Given the description of an element on the screen output the (x, y) to click on. 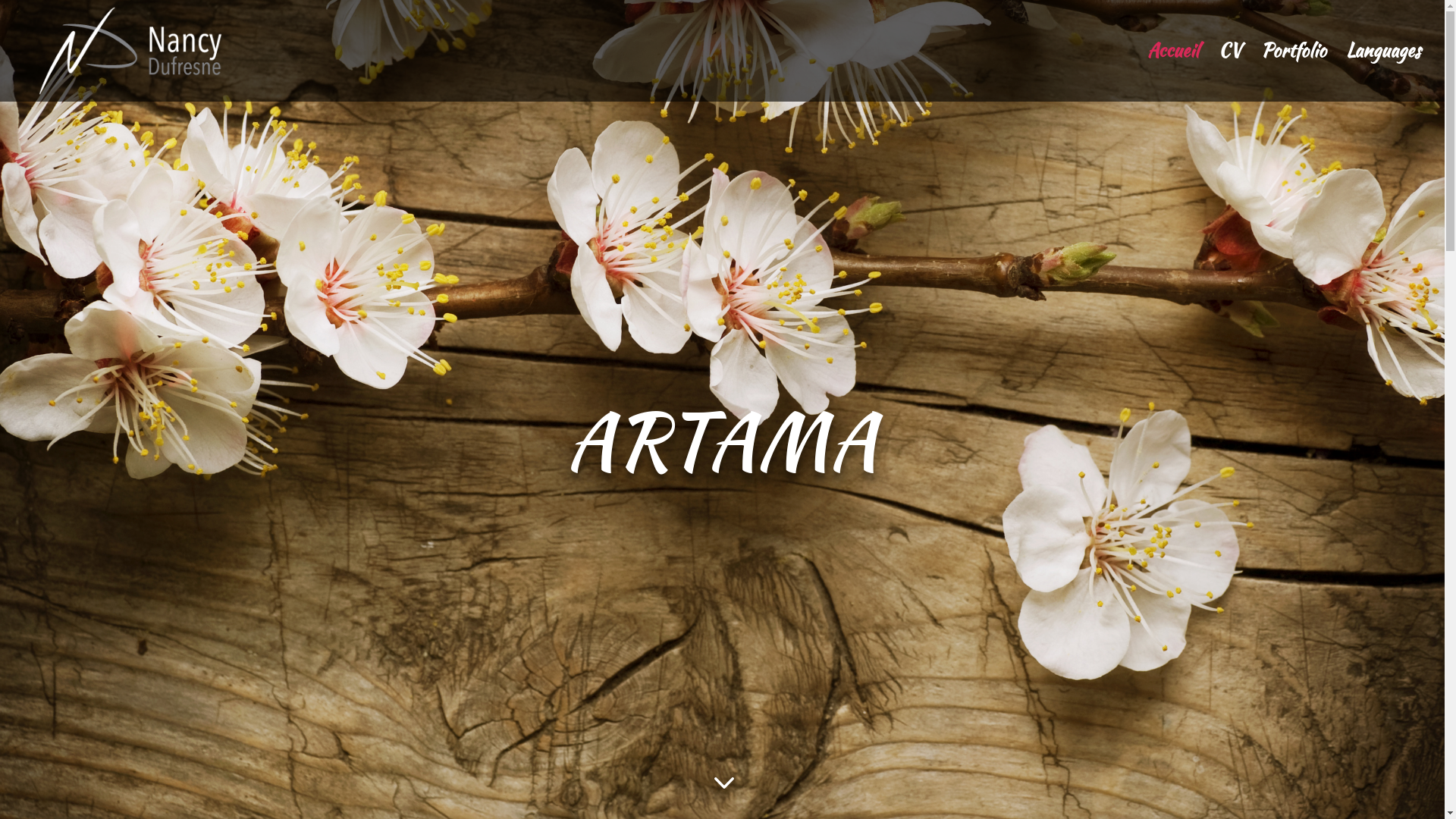
Accueil Element type: text (1172, 73)
3 Element type: text (721, 781)
Portfolio Element type: text (1293, 73)
CV Element type: text (1229, 73)
Languages Element type: text (1383, 73)
